Given the description of an element on the screen output the (x, y) to click on. 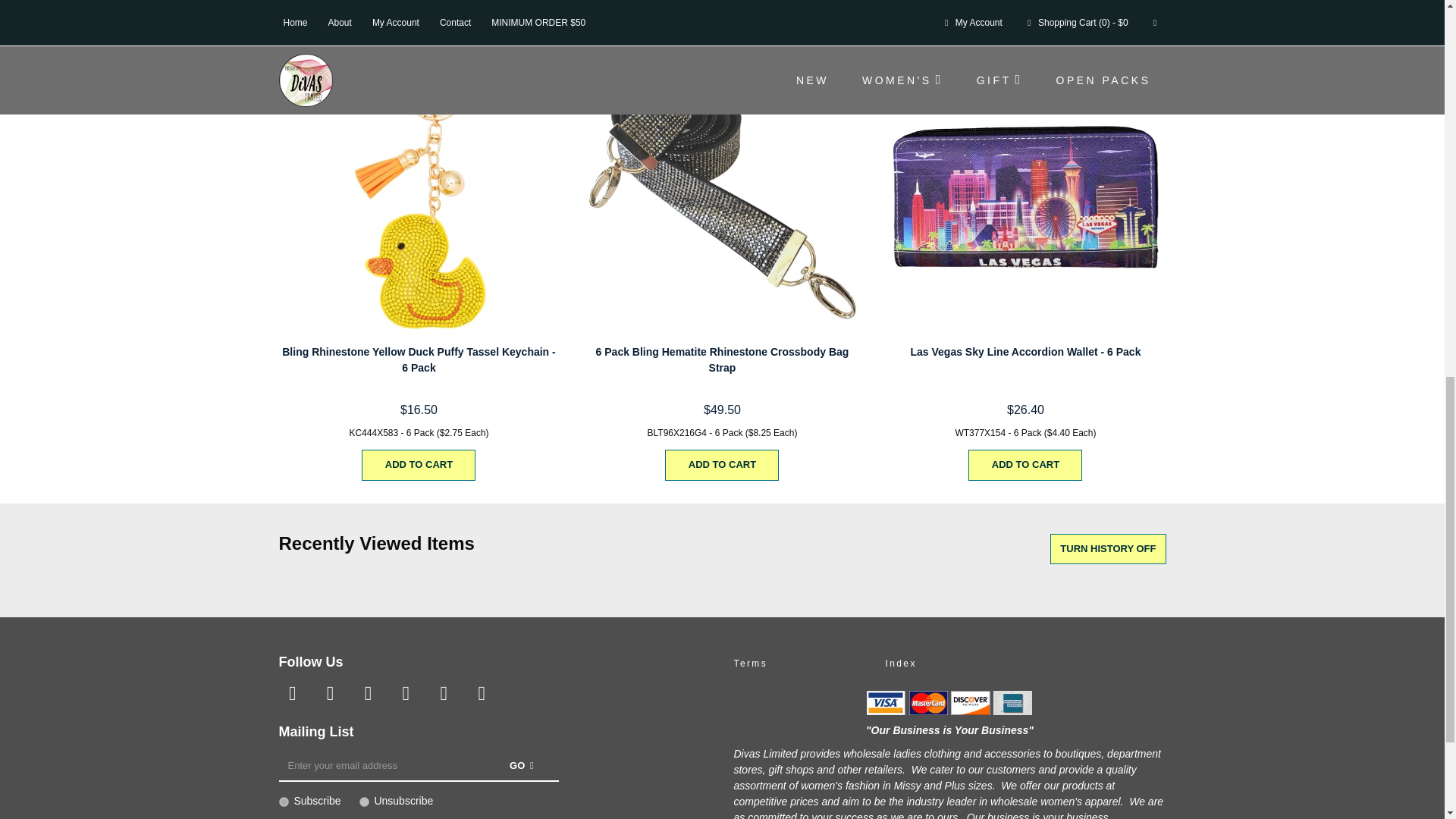
Subscribe to our Channel (367, 693)
Subscribe to our Blog (481, 693)
Credit Card Logos (949, 702)
Follow Us on Instagram (443, 693)
0 (364, 800)
1 (283, 800)
Follow Us on Pinterest (405, 693)
Follow Us on Twitter (329, 693)
Like Us on Facebook (292, 693)
